Given the description of an element on the screen output the (x, y) to click on. 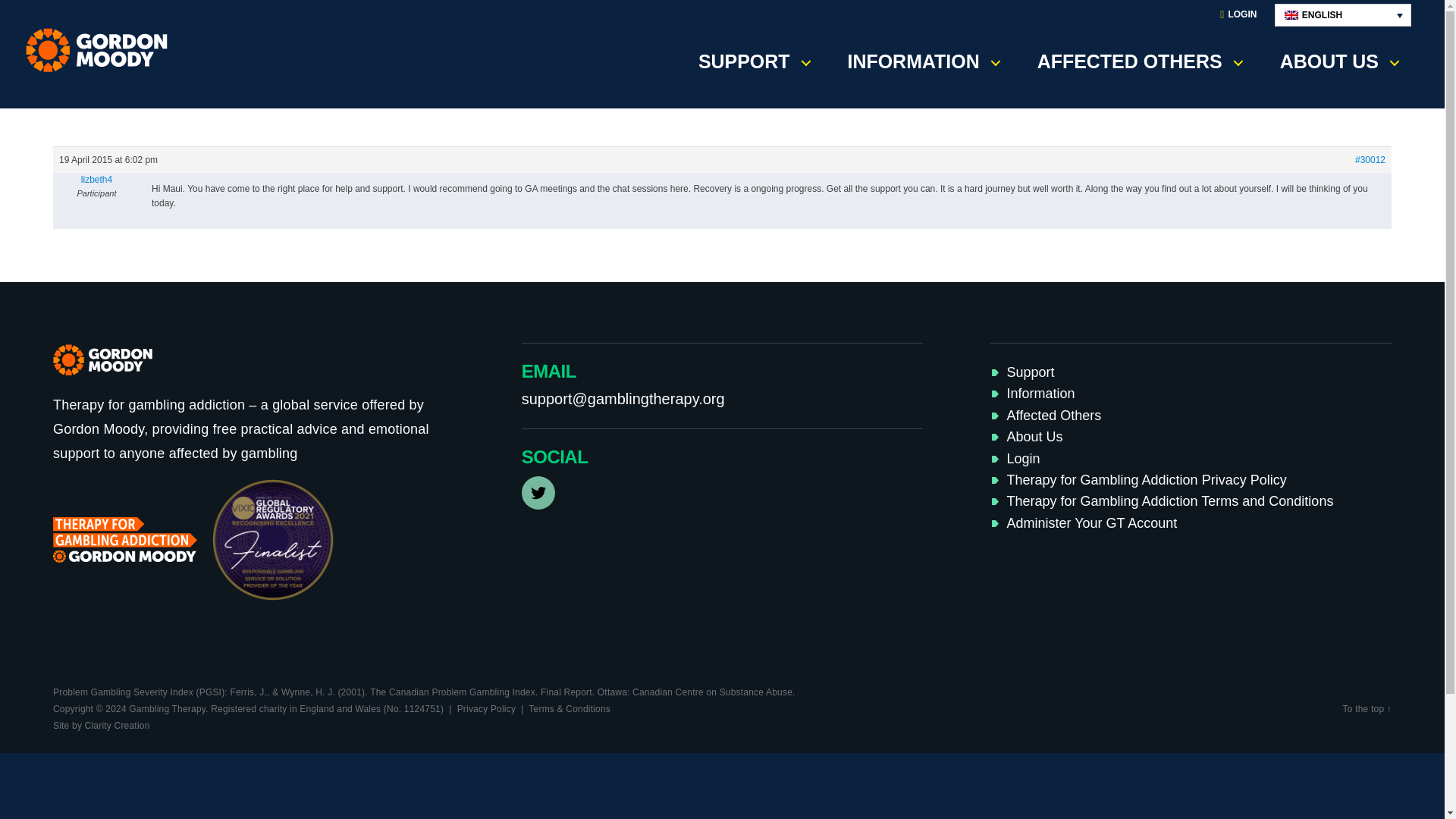
View lizbeth4's profile (95, 179)
Gordon Moody (101, 50)
LOGIN (1238, 15)
ENGLISH (1342, 15)
Visit the Clarity Creation website (100, 725)
